Given the description of an element on the screen output the (x, y) to click on. 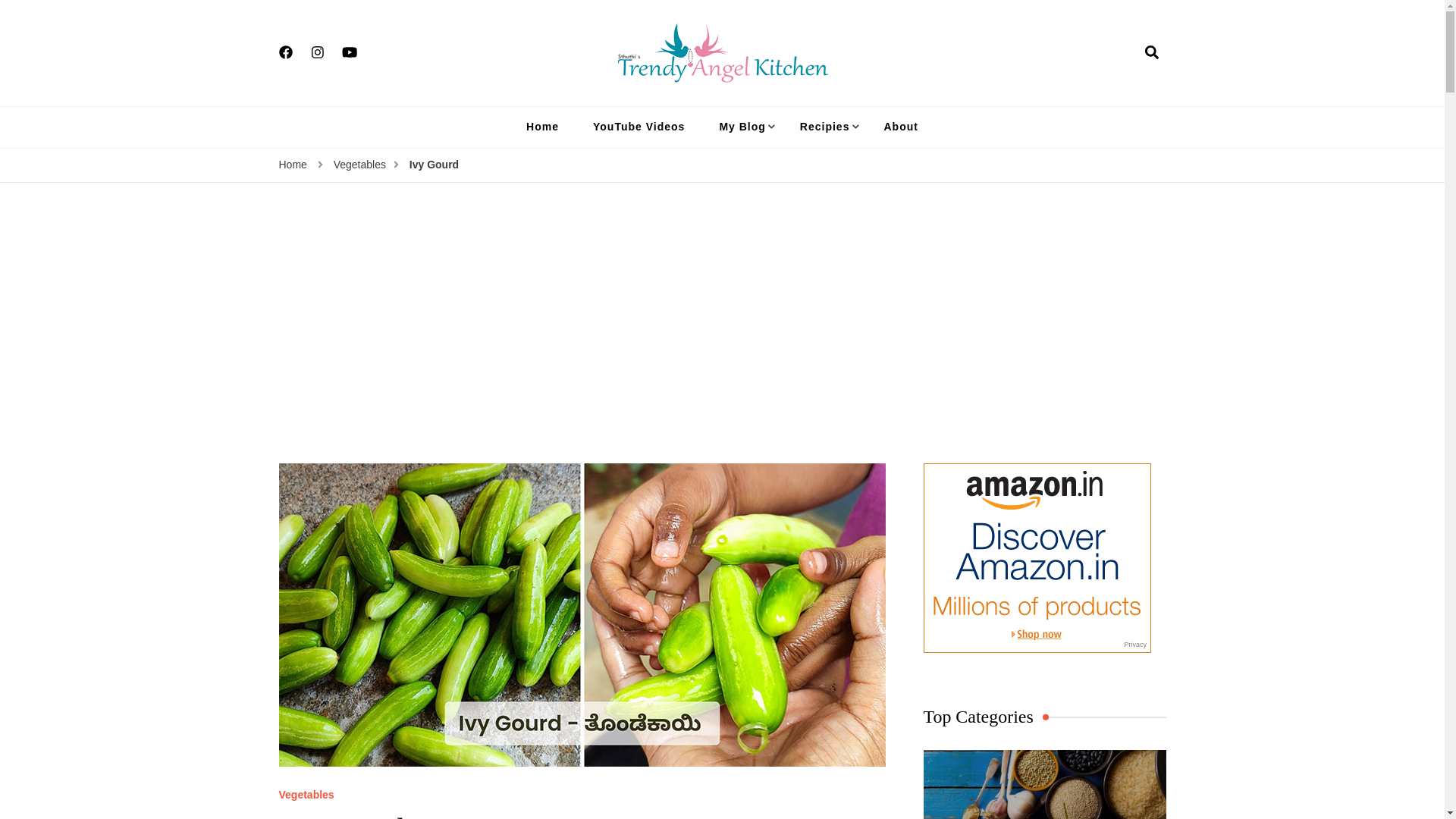
My Blog (741, 127)
Home (542, 127)
Recipies (824, 127)
Home (293, 165)
Vegetables (306, 794)
Vegetables (359, 165)
About (900, 127)
Ivy Gourd (433, 165)
Trendy Angel Kitchen (823, 94)
YouTube Videos (639, 127)
